Given the description of an element on the screen output the (x, y) to click on. 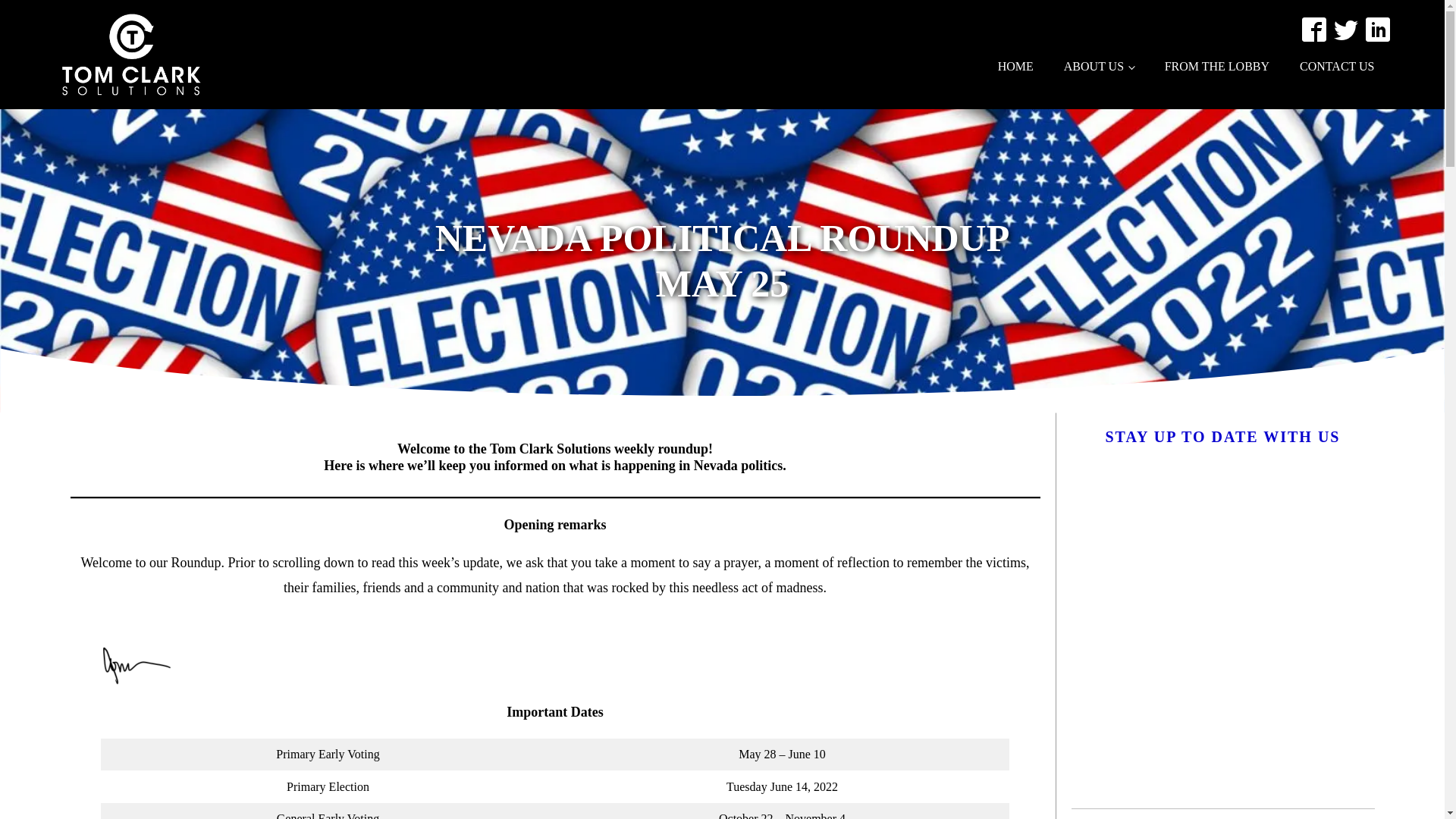
HOME (1015, 66)
CONTACT US (1336, 66)
ABOUT US (1099, 66)
FROM THE LOBBY (1217, 66)
